Given the description of an element on the screen output the (x, y) to click on. 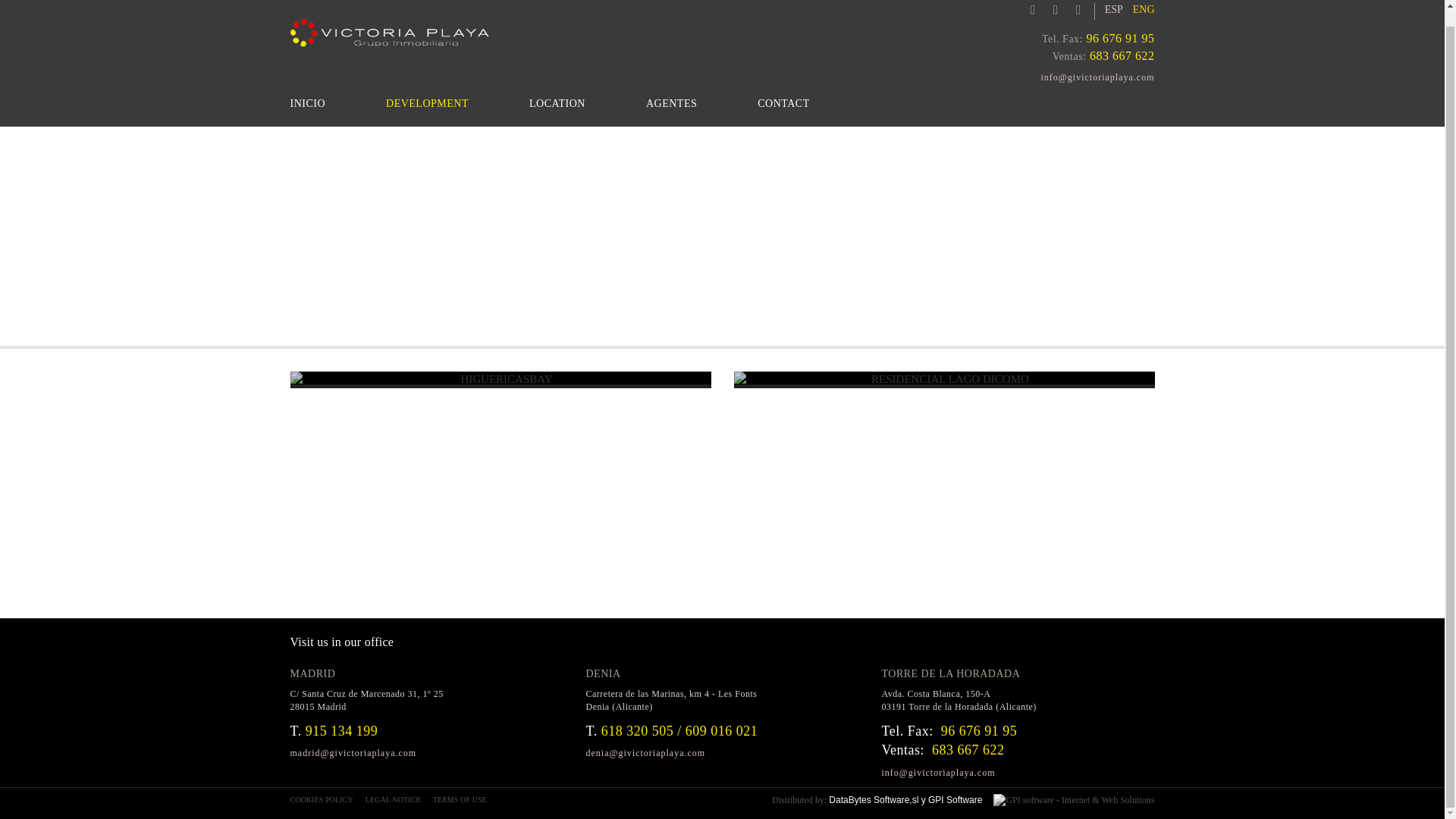
 FACEBOOK (1029, 9)
ESP (1113, 9)
TERMS OF USE (462, 799)
INSTAGRAM (1074, 9)
Grupo Inmobiliario Victoria Playa (389, 32)
LEGAL NOTICE (395, 799)
CONTACT (783, 105)
FACEBOOK (1029, 9)
DEVELOPMENT (427, 105)
COOKIES POLICY (323, 799)
